Given the description of an element on the screen output the (x, y) to click on. 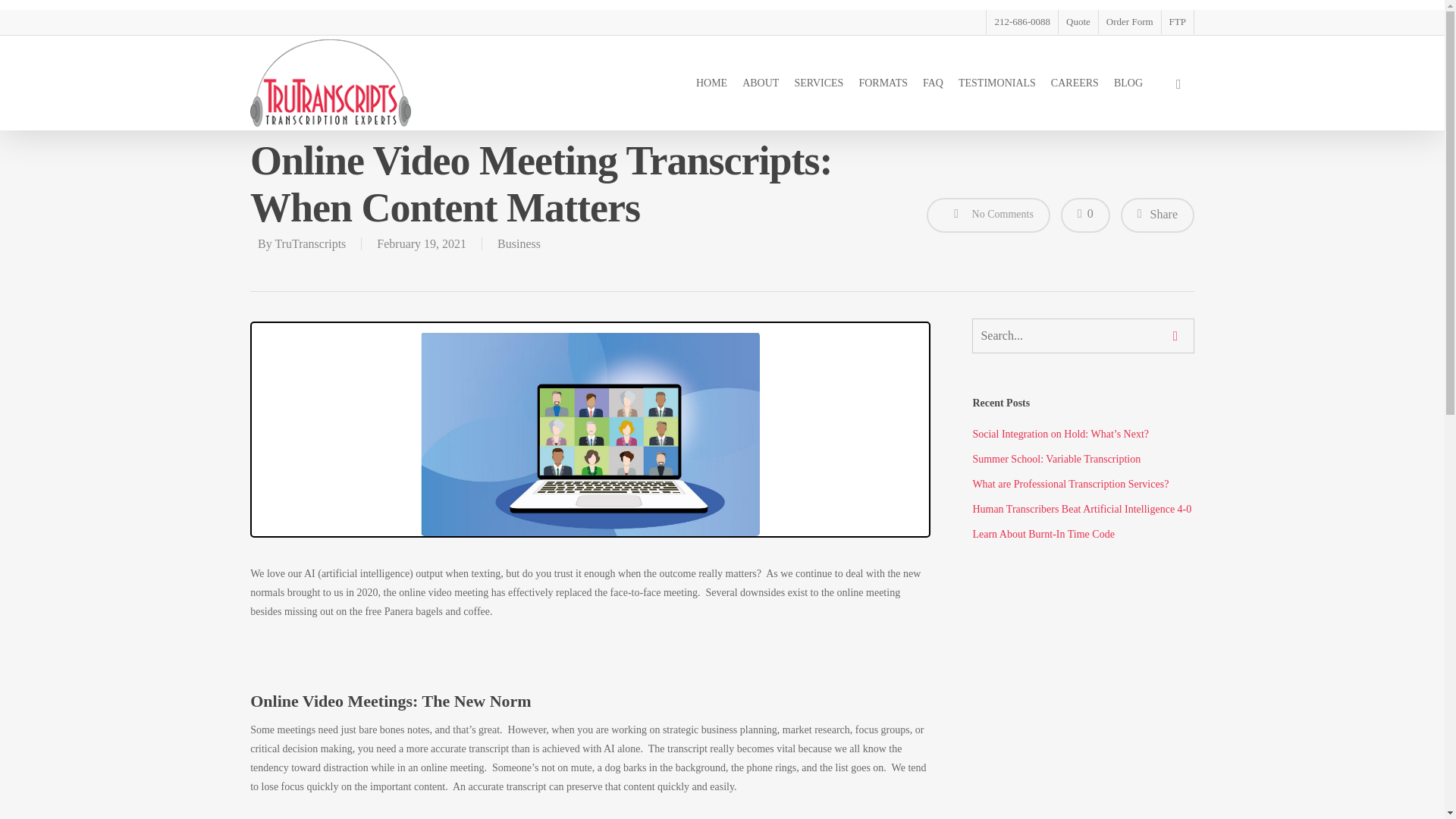
Learn About Burnt-In Time Code (1082, 533)
CAREERS (1074, 83)
Business (518, 243)
Search for: (1082, 335)
Order Form (1128, 21)
Posts by TruTranscripts (310, 243)
FAQ (932, 83)
TruTranscripts (310, 243)
0 (1085, 214)
TESTIMONIALS (996, 83)
Human Transcribers Beat Artificial Intelligence 4-0 (1082, 508)
212-686-0088 (1021, 21)
ABOUT (760, 83)
SERVICES (818, 83)
FTP (1176, 21)
